Given the description of an element on the screen output the (x, y) to click on. 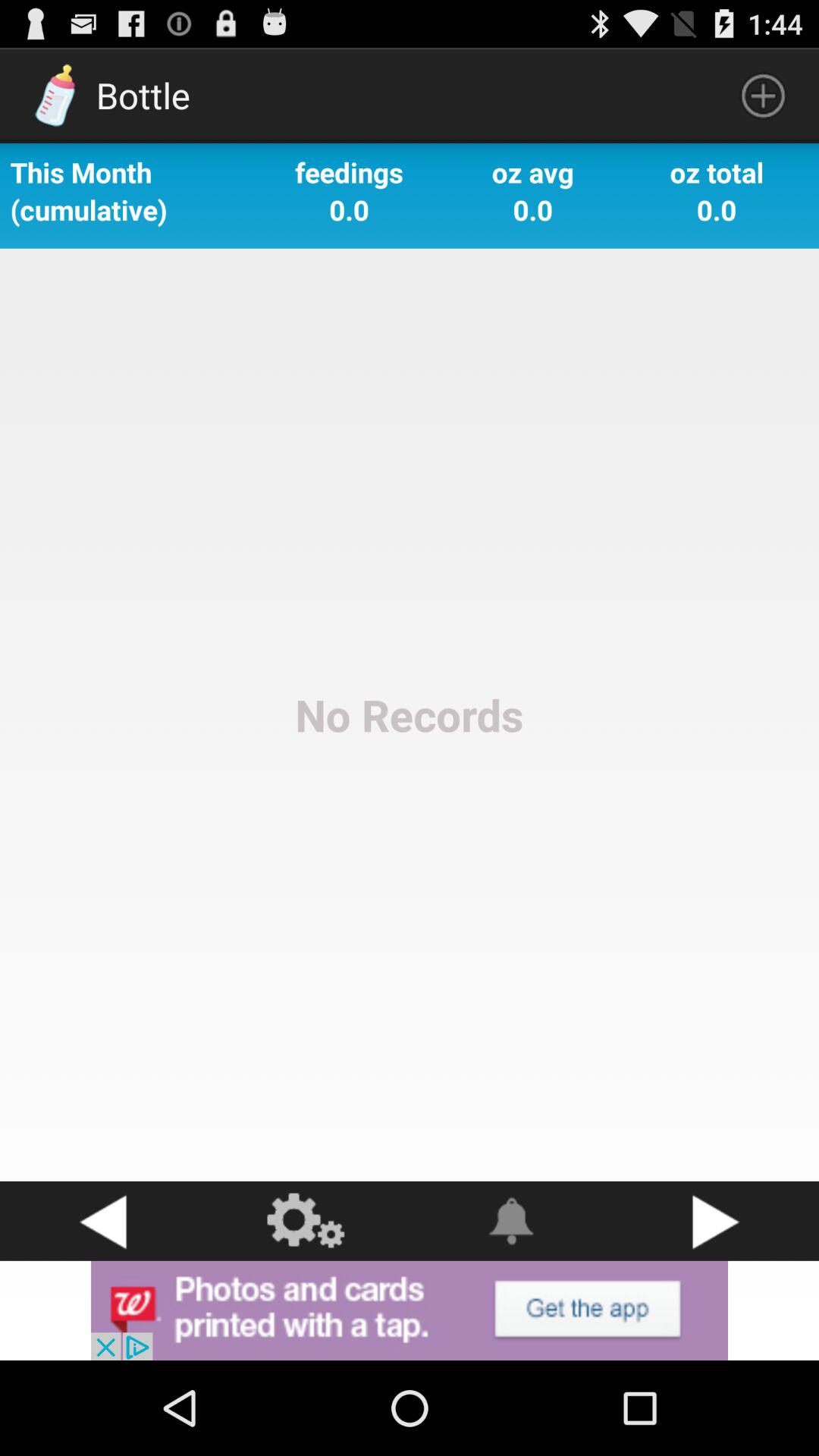
go back to previous (102, 1220)
